Given the description of an element on the screen output the (x, y) to click on. 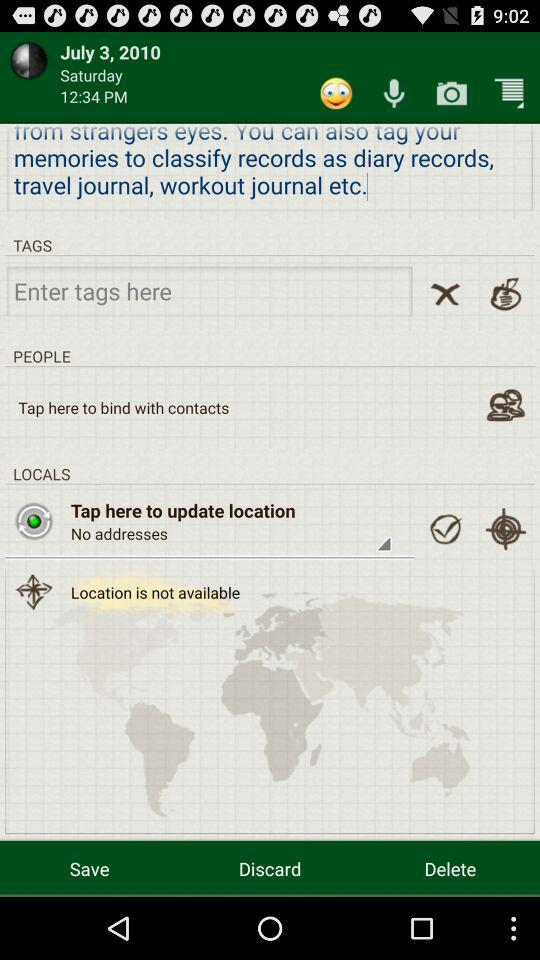
use camera (451, 92)
